Given the description of an element on the screen output the (x, y) to click on. 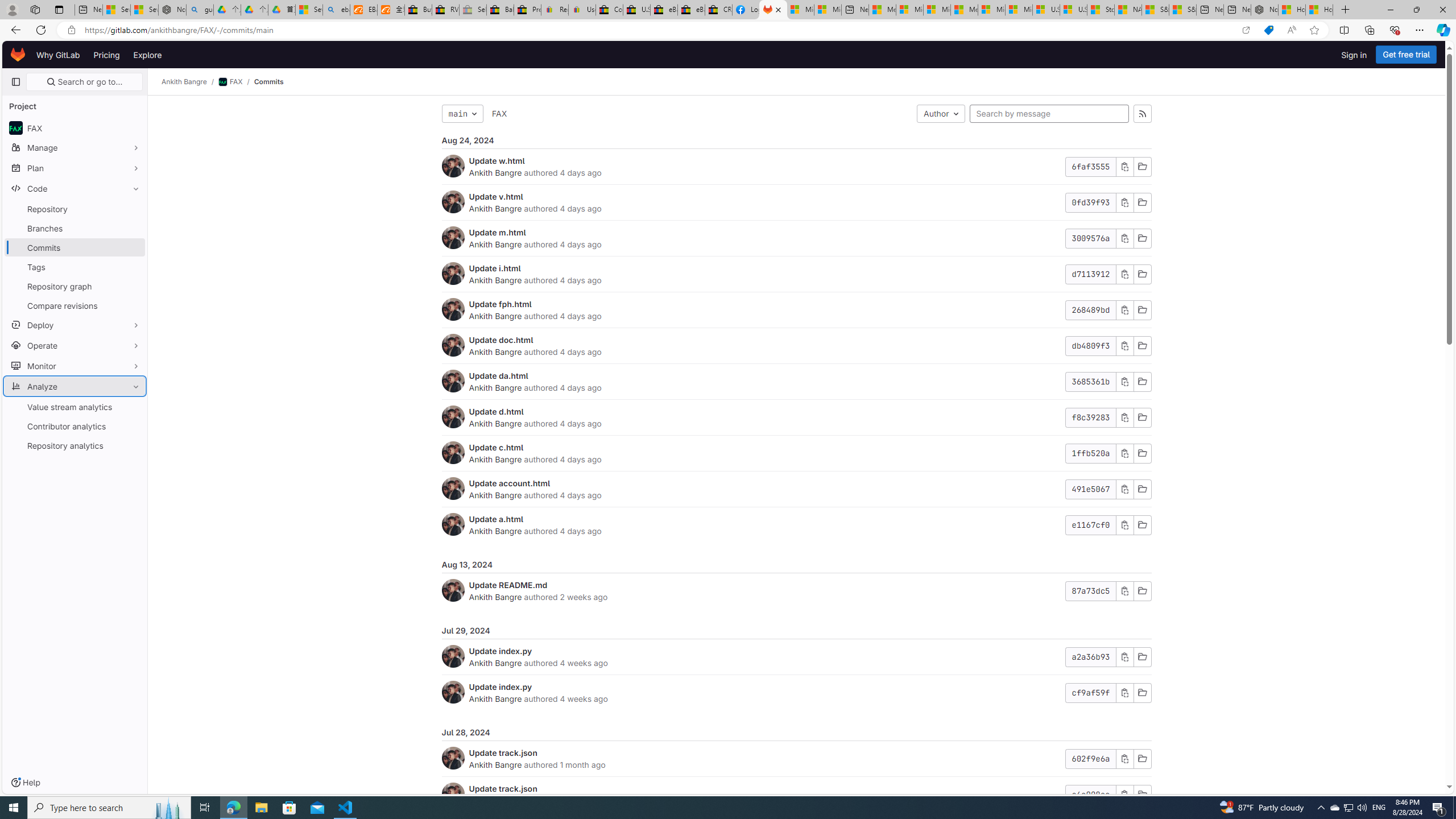
Update index.pyAnkith Bangre authored 4 weeks agoa2a36b93 (796, 656)
Update d.html (496, 411)
Repository graph (74, 285)
Update v.htmlAnkith Bangre authored 4 days ago0fd39f93 (796, 202)
Update index.pyAnkith Bangre authored 4 weeks agocf9af59f (796, 692)
Update i.htmlAnkith Bangre authored 4 days agod7113912 (796, 274)
Sell worldwide with eBay - Sleeping (473, 9)
